Given the description of an element on the screen output the (x, y) to click on. 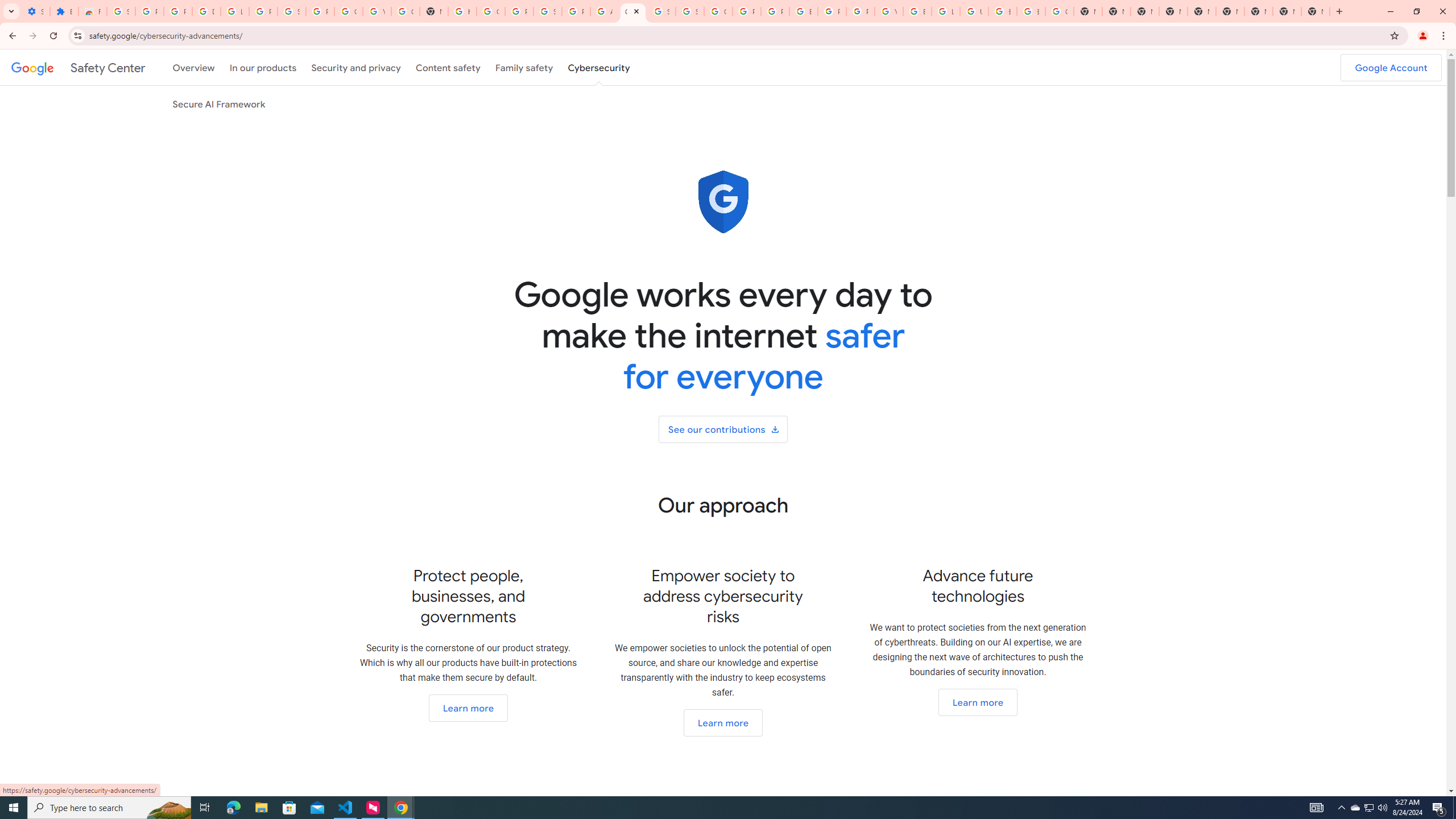
Go to our open ecosystem section (722, 722)
Safety Center (78, 67)
